Given the description of an element on the screen output the (x, y) to click on. 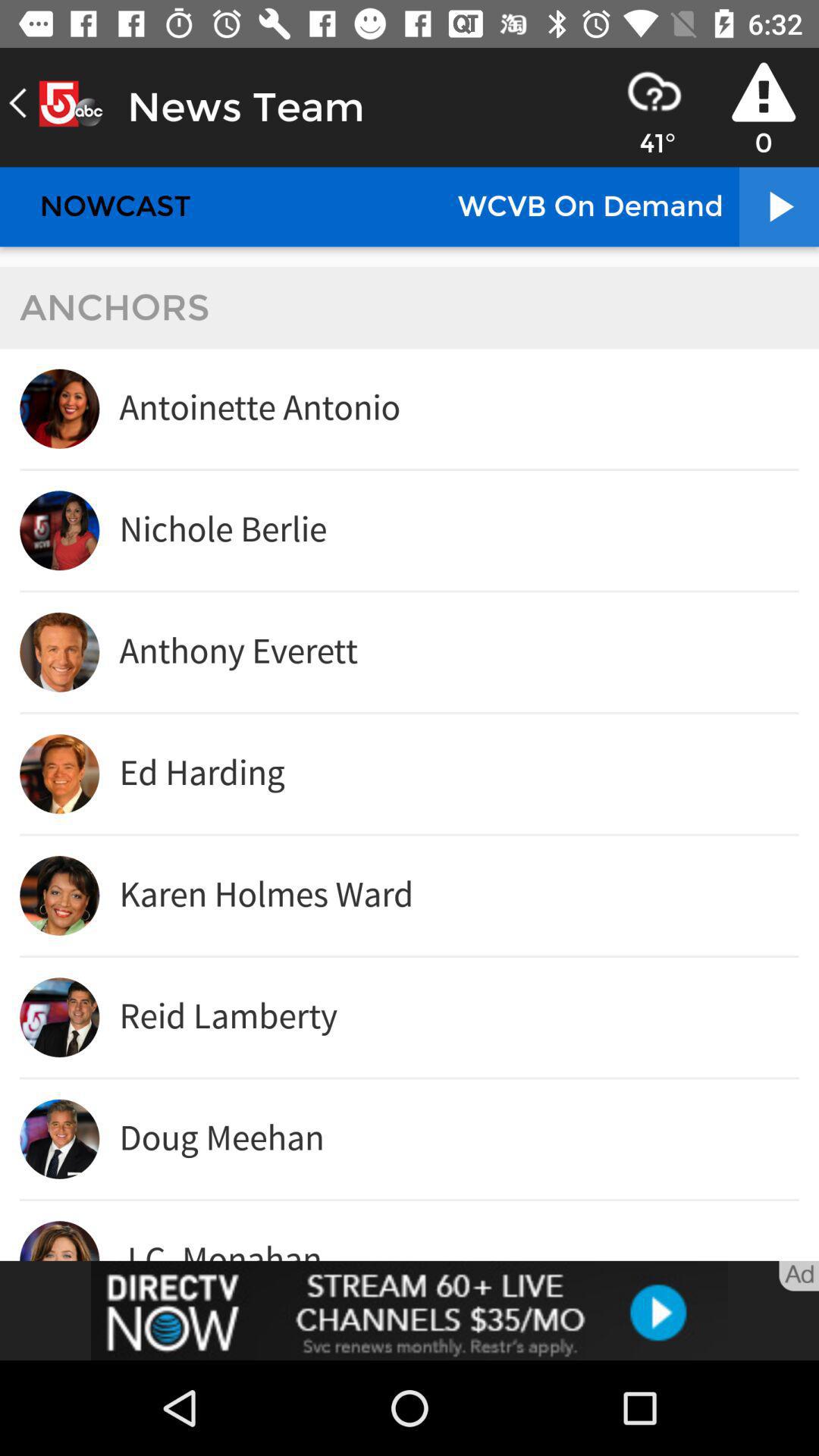
click the advertisement (409, 1310)
